Given the description of an element on the screen output the (x, y) to click on. 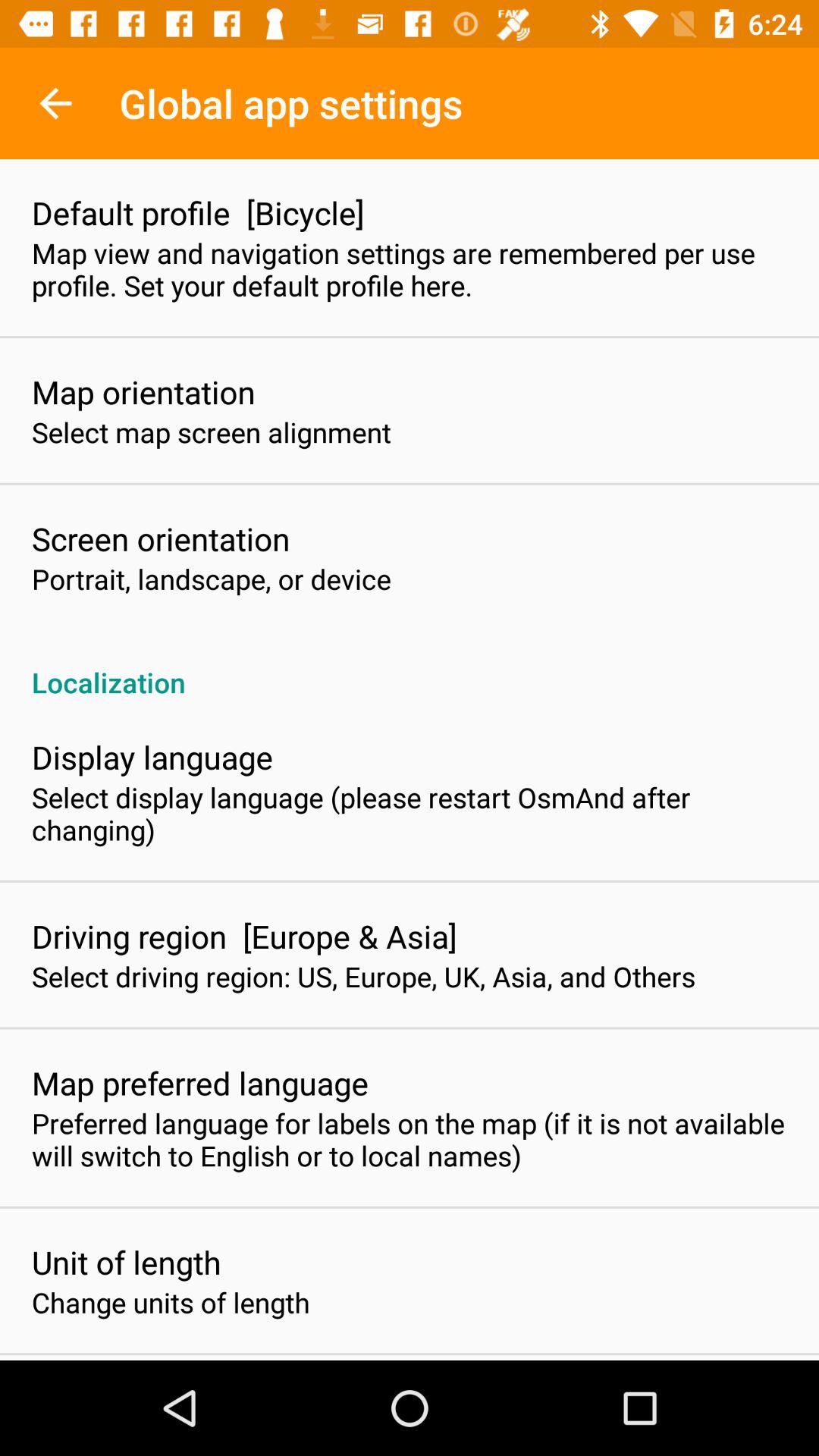
launch icon above the screen orientation icon (211, 432)
